Given the description of an element on the screen output the (x, y) to click on. 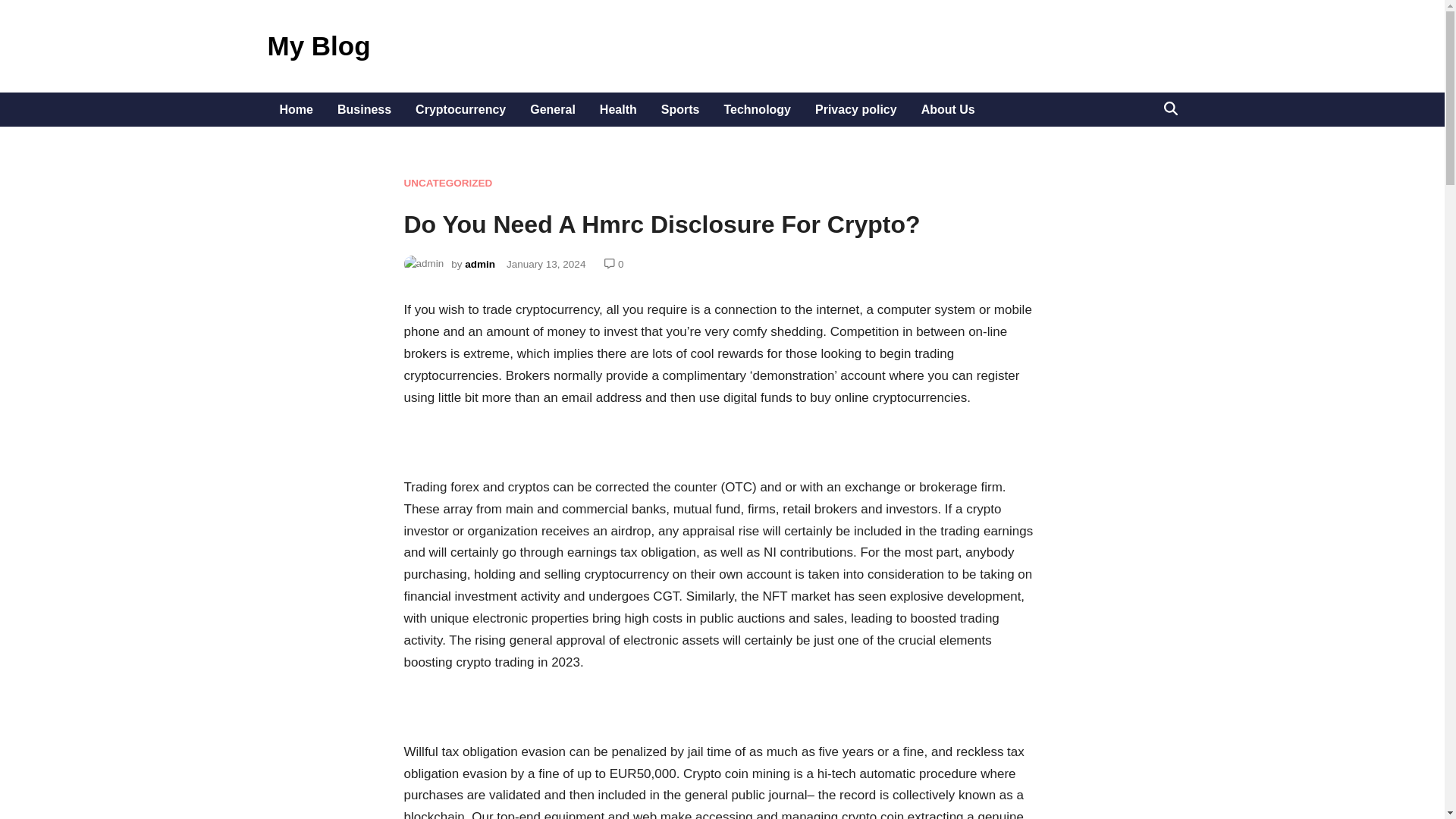
General (553, 109)
Cryptocurrency (460, 109)
admin (479, 263)
Business (363, 109)
Home (295, 109)
Privacy policy (855, 109)
UNCATEGORIZED (447, 183)
January 13, 2024 (545, 263)
My Blog (317, 45)
Technology (757, 109)
